Given the description of an element on the screen output the (x, y) to click on. 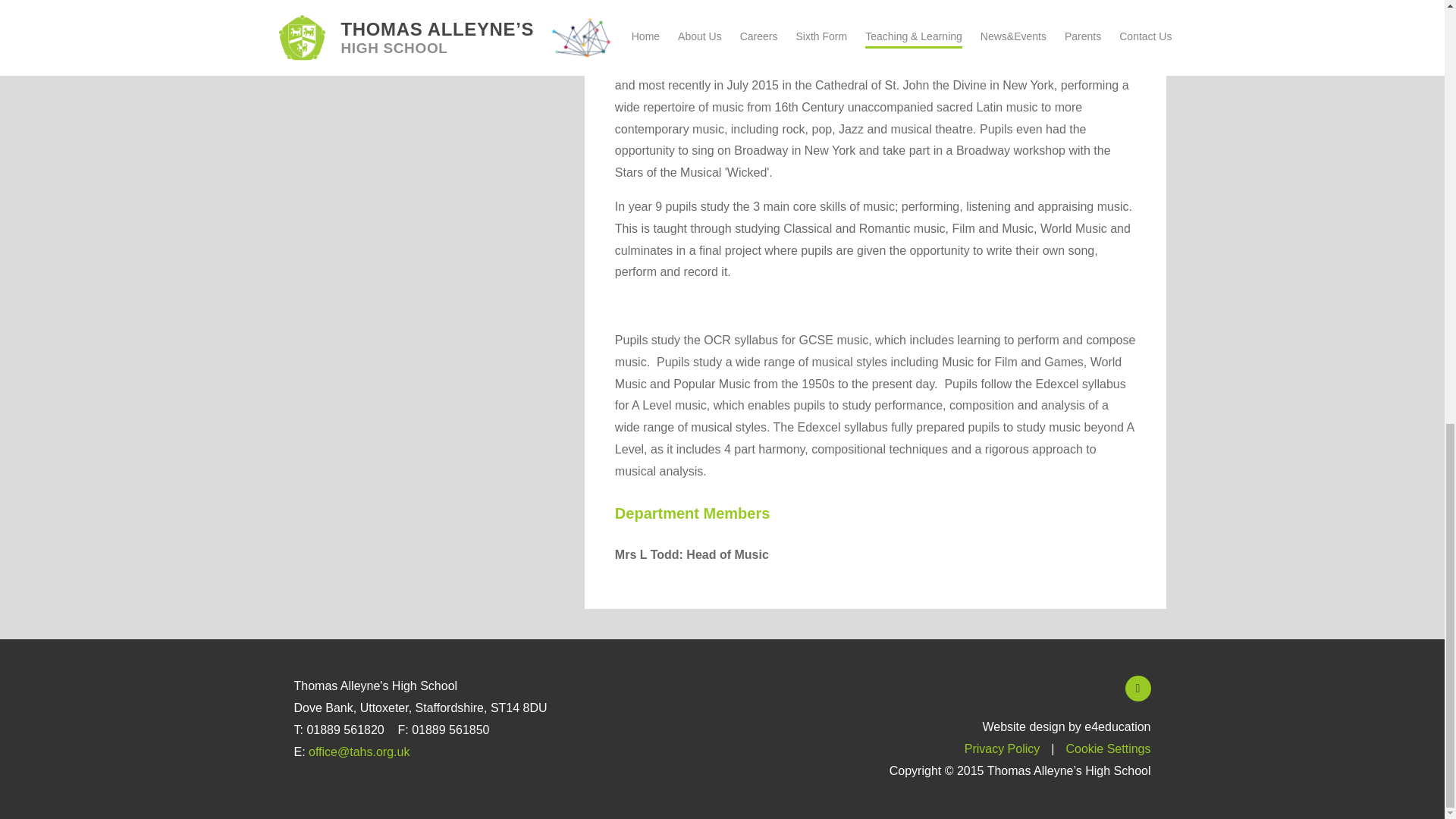
Cookie Settings (1107, 748)
Privacy Policy (1002, 748)
Cookie Settings (1107, 748)
Website design by e4education (1065, 726)
01889 561820 (344, 729)
